Given the description of an element on the screen output the (x, y) to click on. 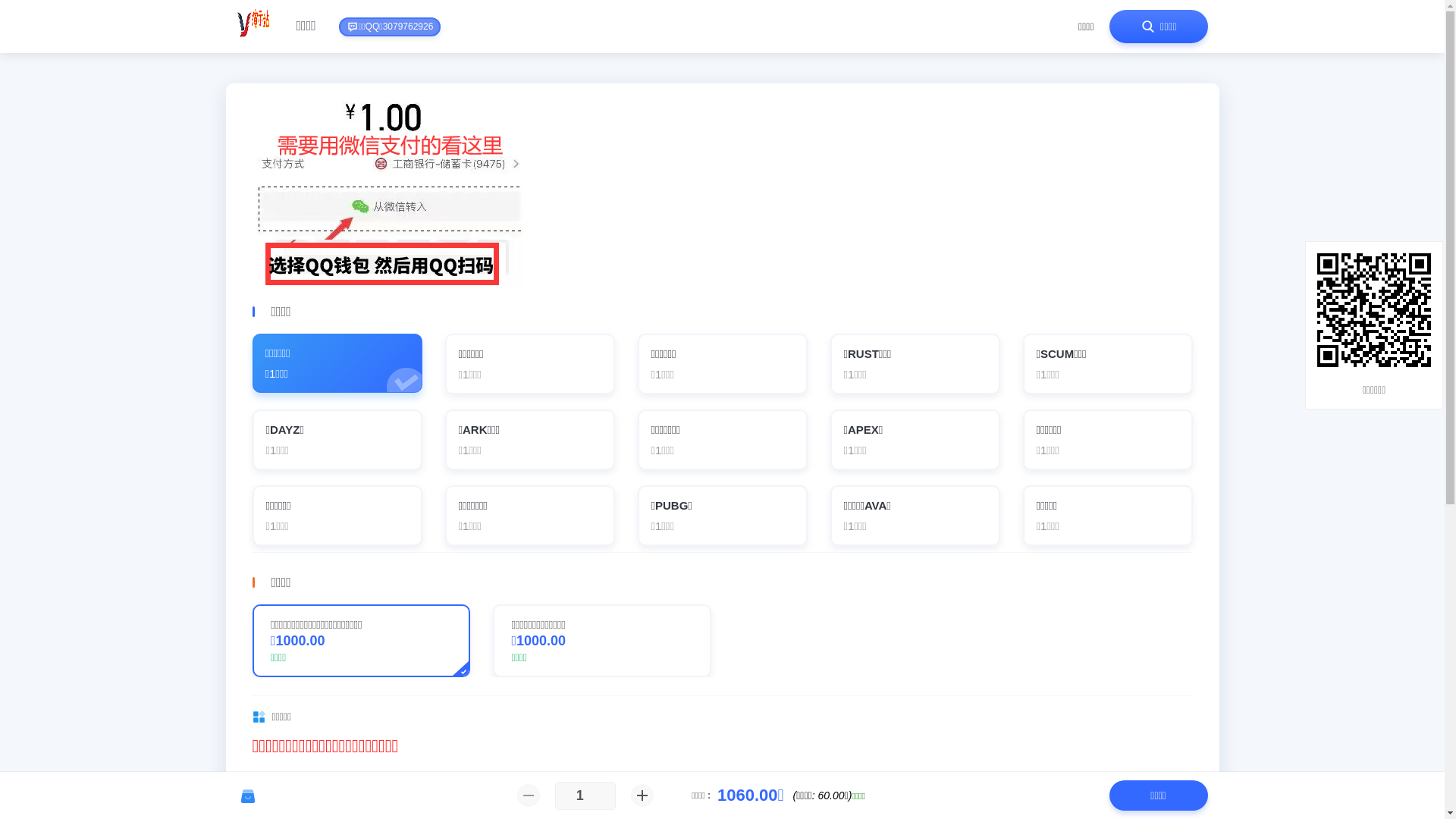
https://shop.58yunka.cn//link/3403FCDF Element type: hover (1373, 310)
